Given the description of an element on the screen output the (x, y) to click on. 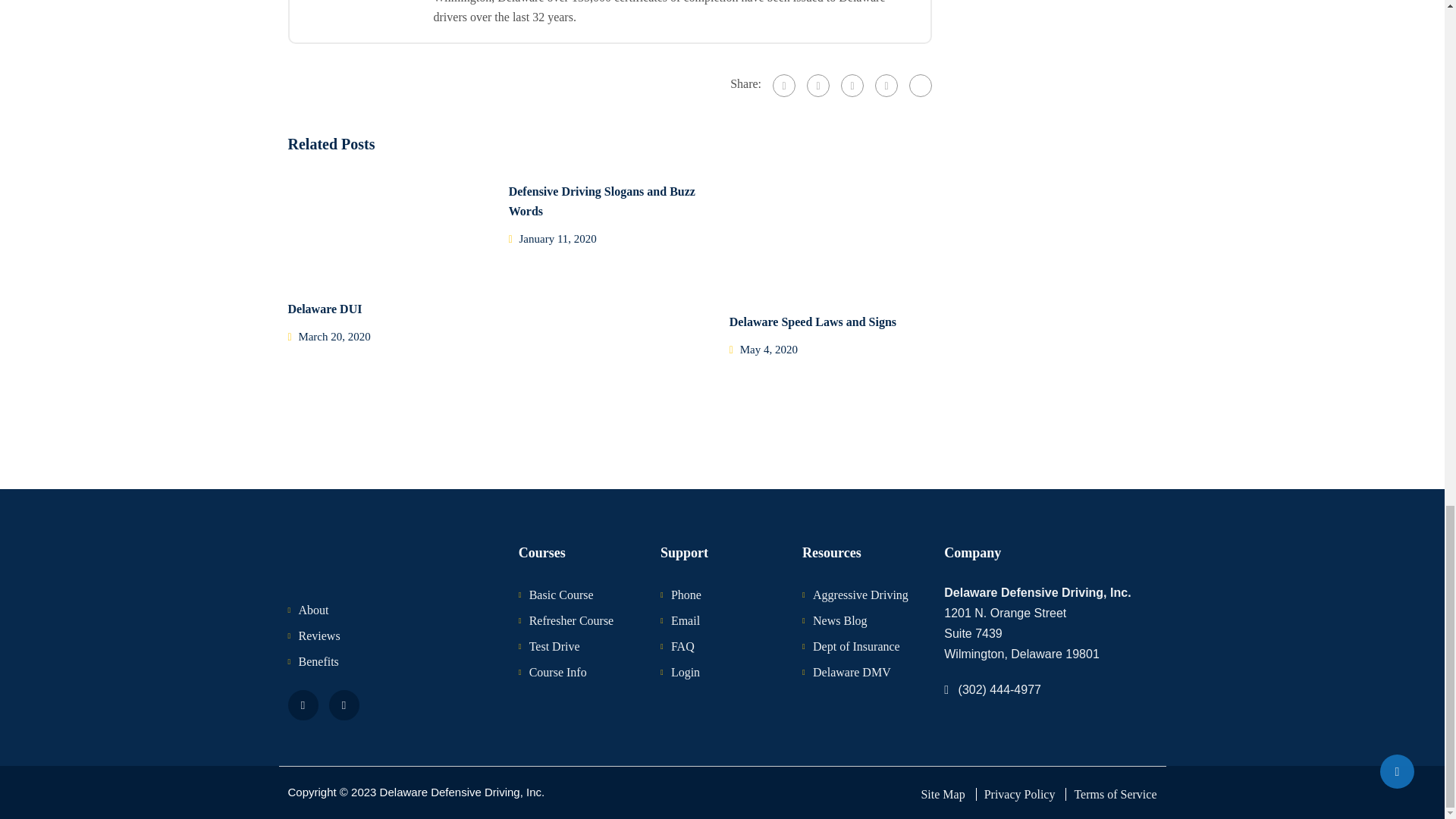
May 4, 2020 (768, 349)
Defensive Driving Slogans and Buzz Words (601, 201)
January 11, 2020 (557, 238)
Twitter (344, 705)
Delaware Speed Laws and Signs (812, 321)
Reviews (319, 635)
About (313, 609)
Twitter (852, 85)
Google Plus (817, 85)
Delaware DUI (325, 308)
Pinterest (886, 85)
March 20, 2020 (333, 336)
Facebook (303, 705)
Facebook (783, 85)
